Given the description of an element on the screen output the (x, y) to click on. 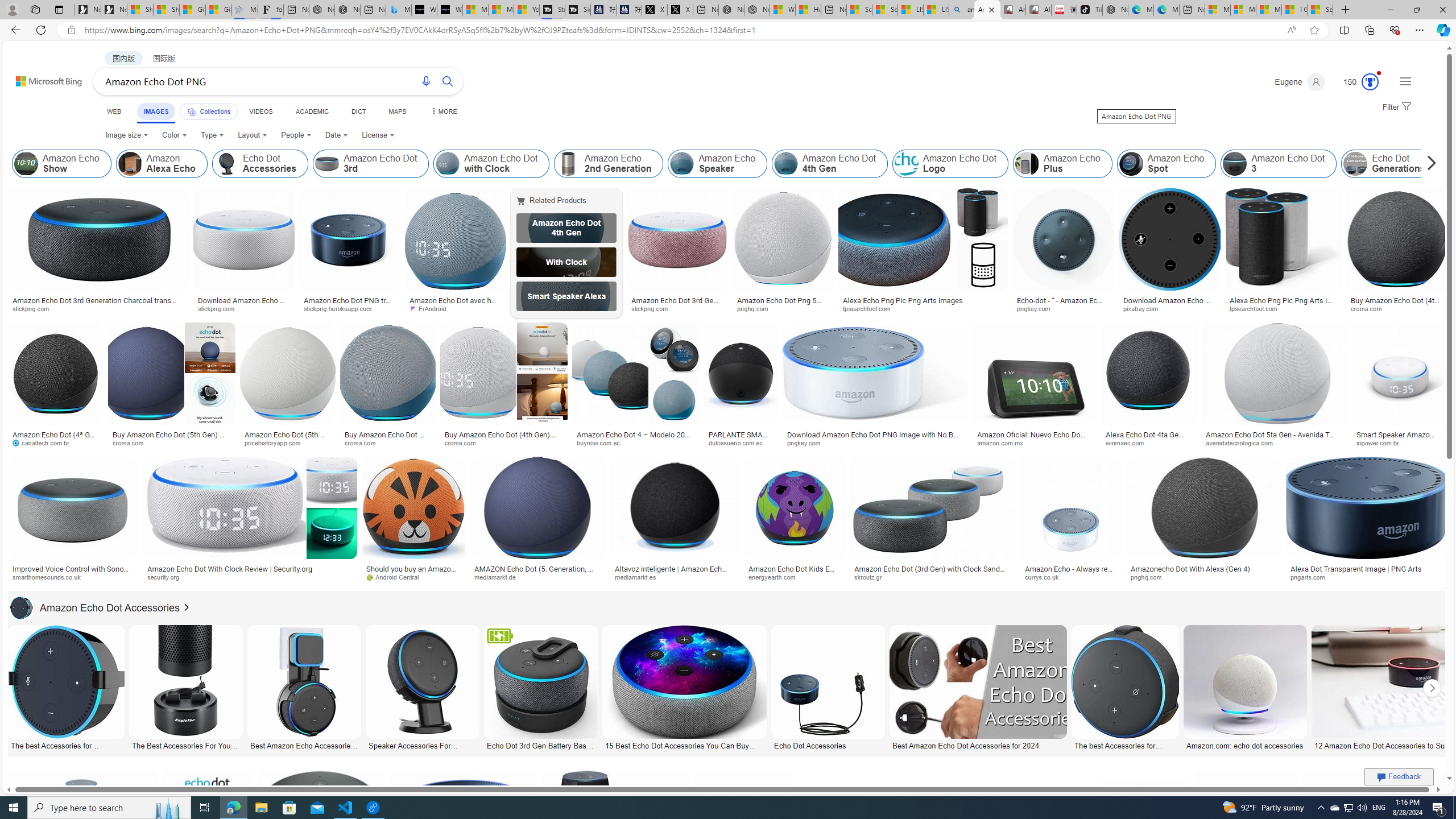
Microsoft Bing Travel - Shangri-La Hotel Bangkok (398, 9)
Amazon Echo Dot Accessories (21, 607)
Class: b_pri_nav_svg (191, 112)
